Given the description of an element on the screen output the (x, y) to click on. 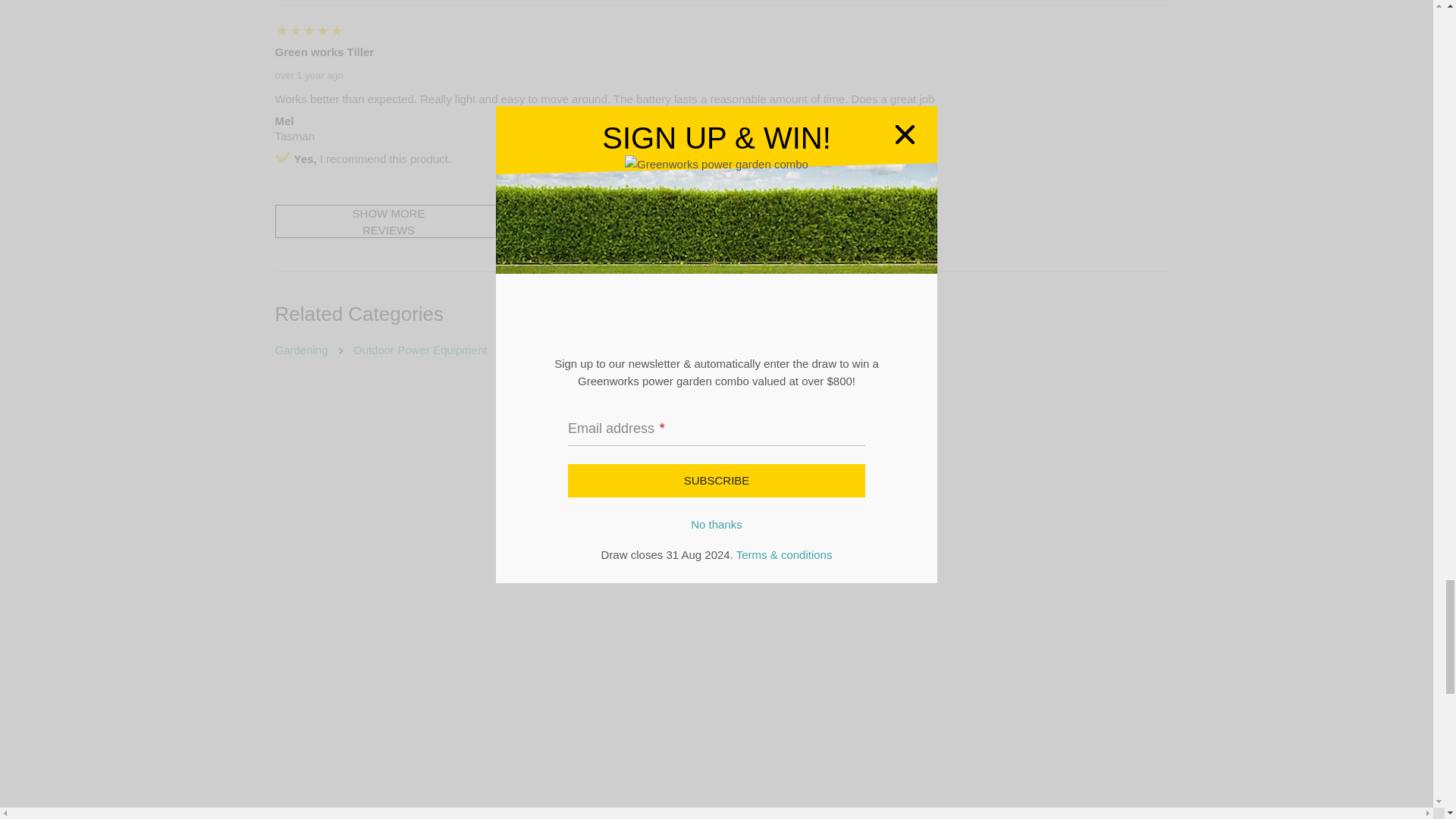
Rotary Tillers (544, 349)
Outdoor Power Equipment (420, 349)
Gardening (302, 349)
SHOW MORE REVIEWS (388, 221)
